Given the description of an element on the screen output the (x, y) to click on. 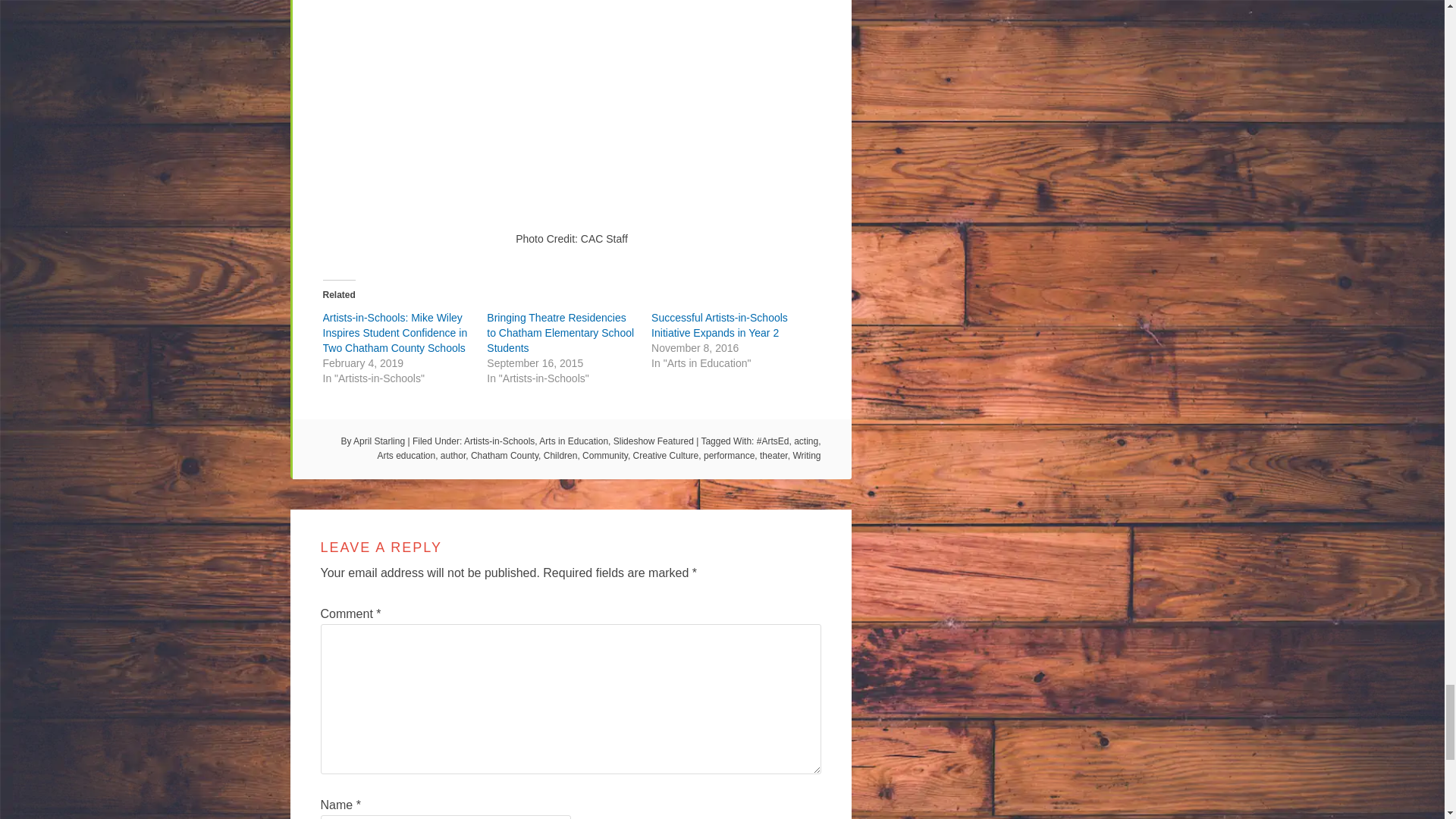
Successful Artists-in-Schools Initiative Expands in Year 2 (718, 325)
